Given the description of an element on the screen output the (x, y) to click on. 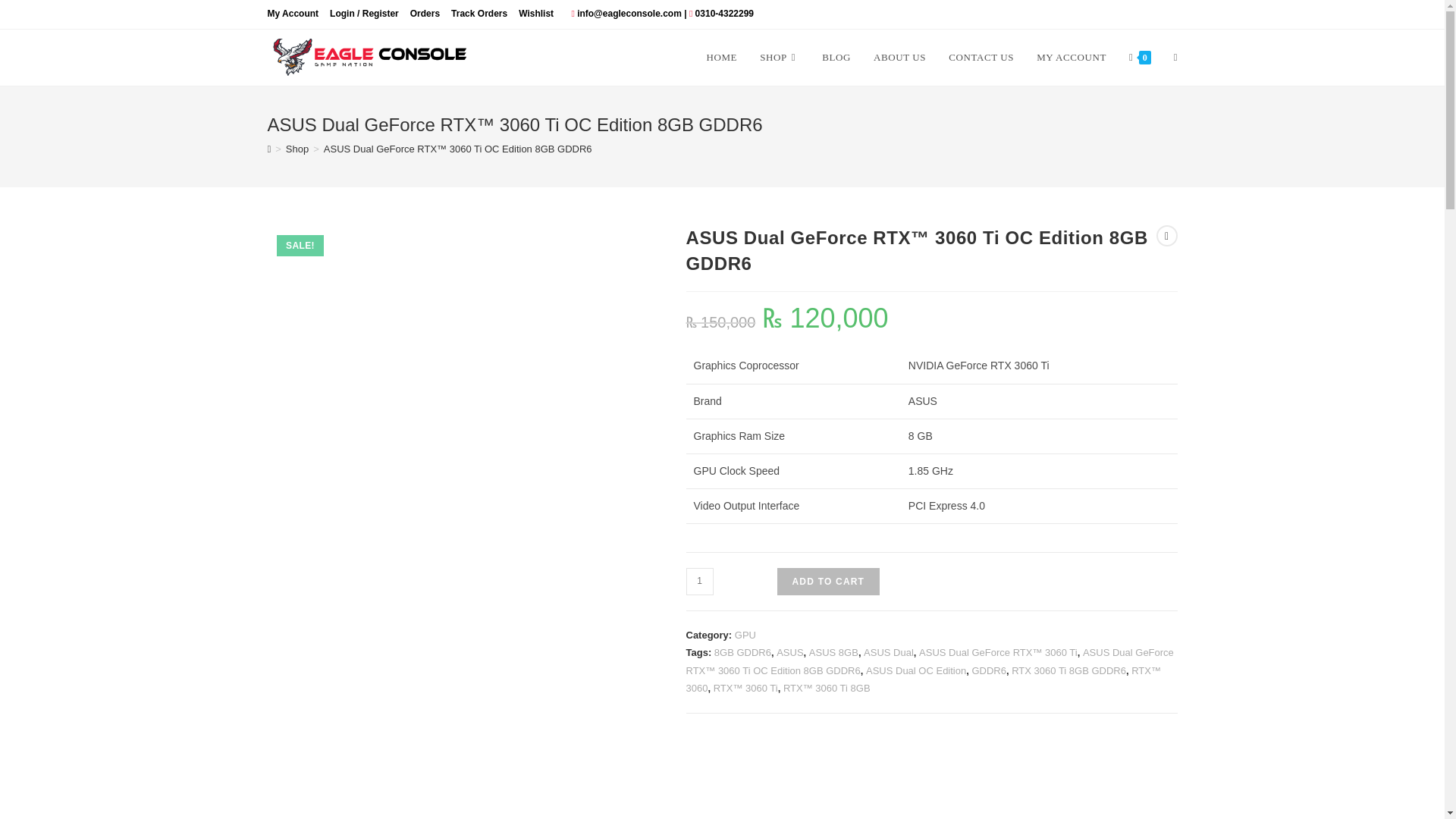
Wishlist (535, 13)
MY ACCOUNT (1071, 57)
My Account (292, 13)
ABOUT US (899, 57)
BLOG (835, 57)
1 (699, 581)
Track Orders (478, 13)
CONTACT US (981, 57)
SHOP (779, 57)
HOME (721, 57)
